Given the description of an element on the screen output the (x, y) to click on. 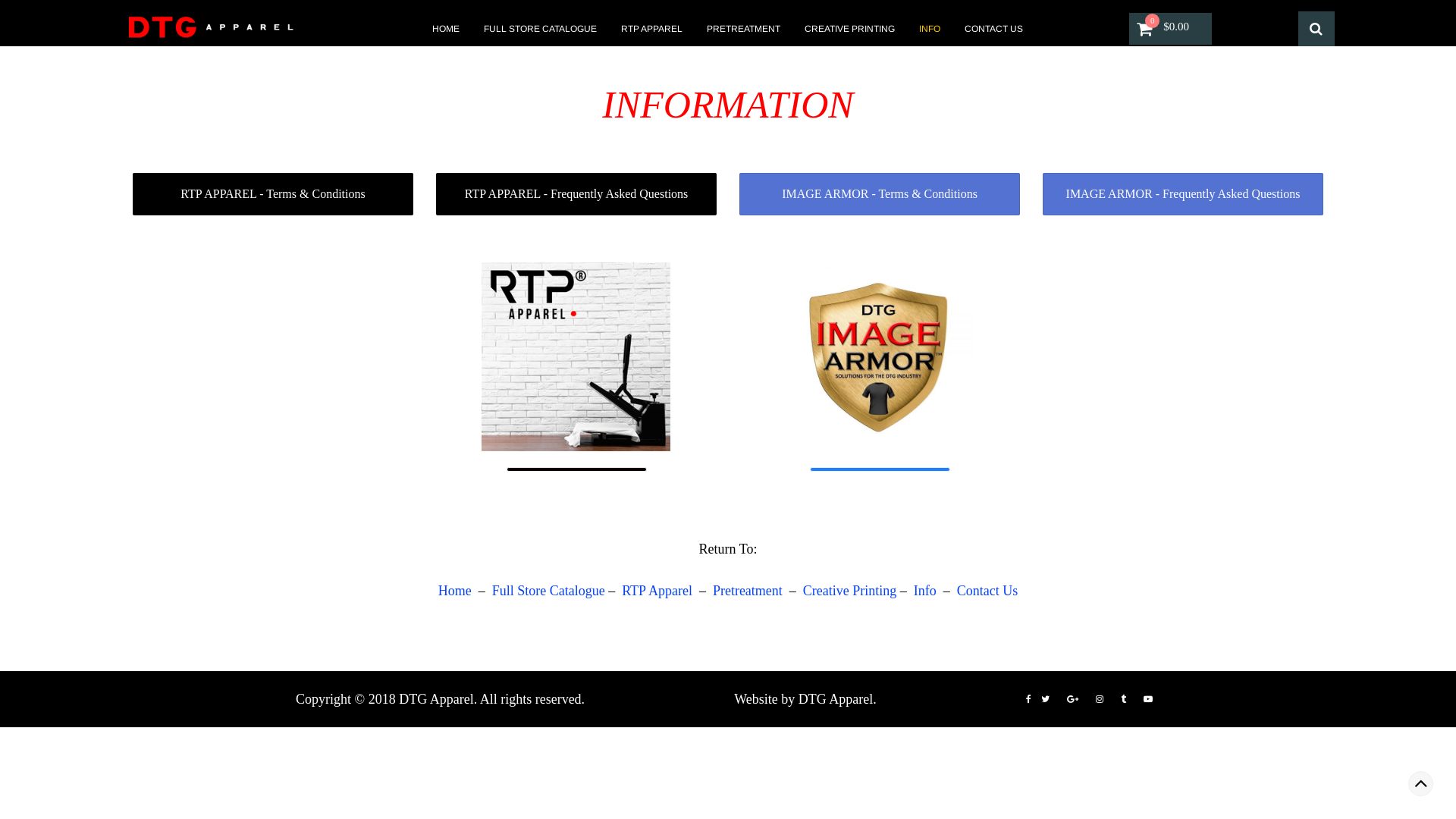
CREATIVE PRINTING Element type: text (849, 28)
Creative Printing Element type: text (849, 590)
IMAGE ARMOR - Terms & Conditions Element type: text (879, 193)
HOME Element type: text (445, 28)
Home Element type: text (454, 590)
Contact Us Element type: text (987, 590)
IMAGE ARMOR - Frequently Asked Questions Element type: text (1182, 193)
FULL STORE CATALOGUE Element type: text (539, 28)
INFO Element type: text (929, 28)
RTP APPAREL Element type: text (651, 28)
RTP Apparel  Element type: text (658, 590)
CONTACT US Element type: text (993, 28)
RTP APPAREL - Frequently Asked Questions Element type: text (576, 193)
Info Element type: text (924, 590)
PRETREATMENT Element type: text (743, 28)
Back to top Element type: hover (1420, 783)
RTP APPAREL - Terms & Conditions Element type: text (272, 193)
Full Store Catalogue Element type: text (548, 590)
Pretreatment Element type: text (747, 590)
